Given the description of an element on the screen output the (x, y) to click on. 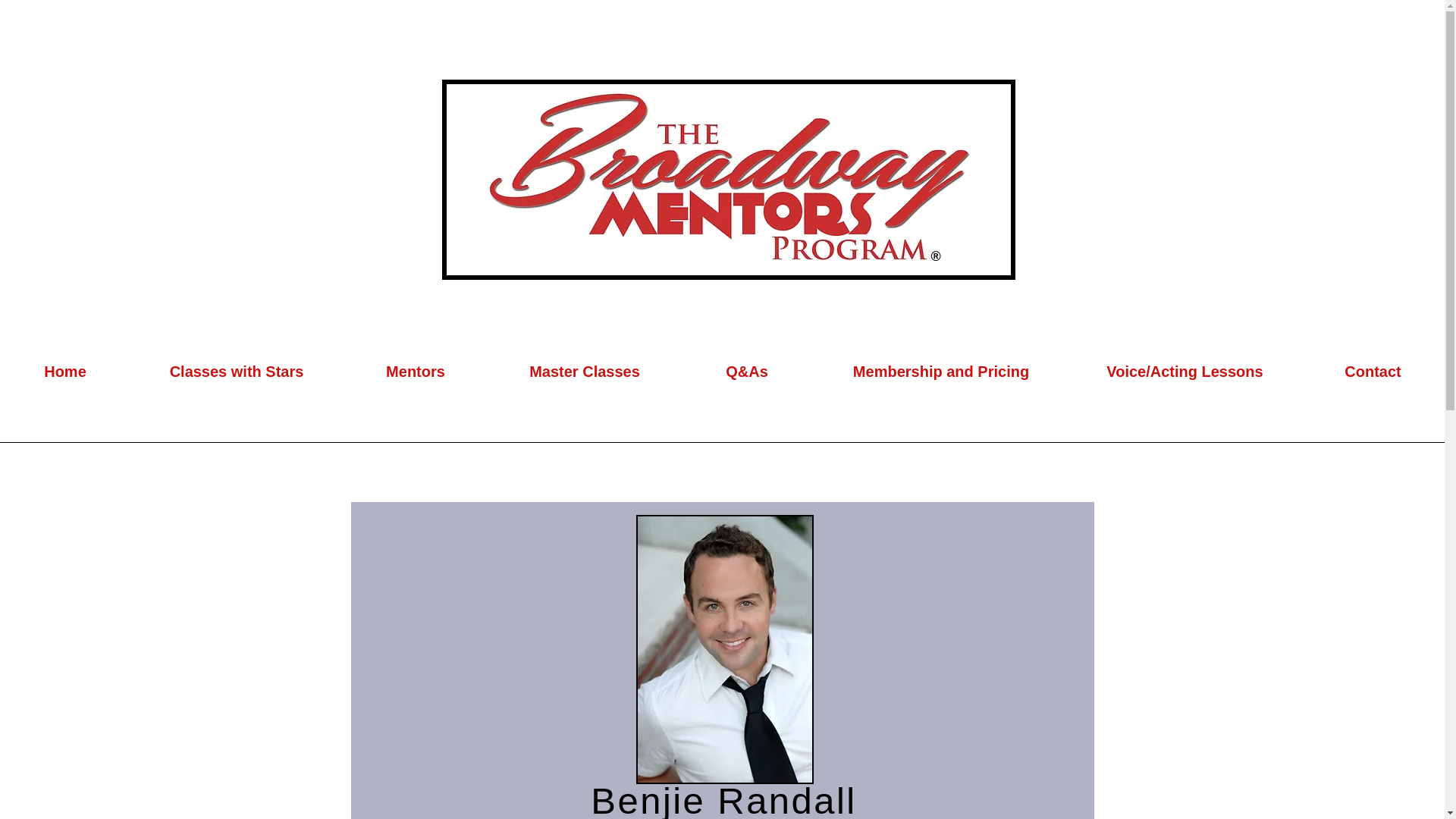
Home (65, 371)
Membership and Pricing (940, 371)
Master Classes (583, 371)
Mentors (414, 371)
Classes with Stars (236, 371)
